Given the description of an element on the screen output the (x, y) to click on. 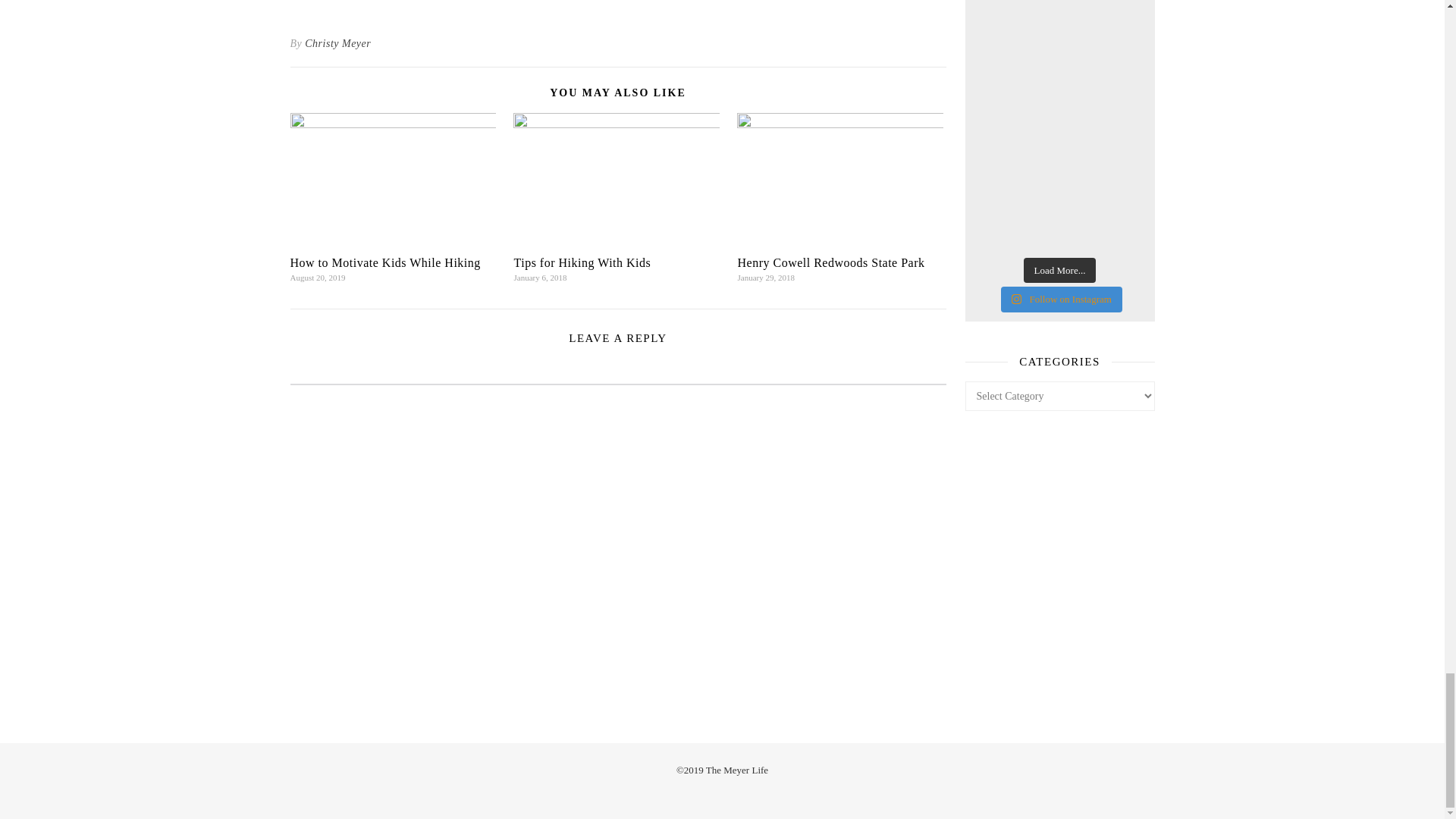
Christy Meyer (337, 43)
Posts by Christy Meyer (337, 43)
